Given the description of an element on the screen output the (x, y) to click on. 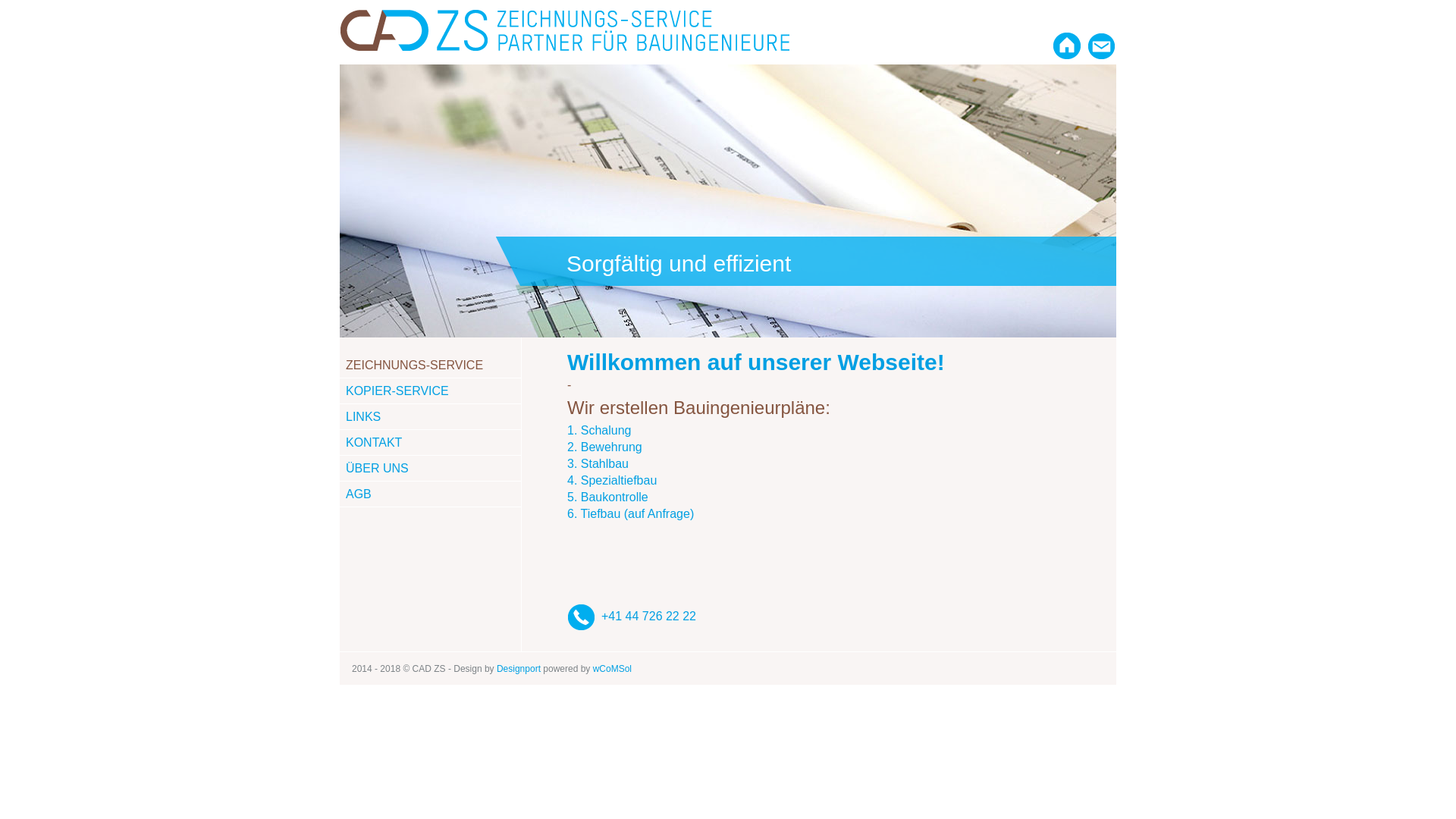
ZEICHNUNGS-SERVICE Element type: text (414, 364)
Designport Element type: text (518, 668)
KONTAKT Element type: text (373, 442)
KOPIER-SERVICE Element type: text (396, 390)
wCoMSol Element type: text (612, 668)
AGB Element type: text (358, 493)
LINKS Element type: text (362, 416)
